Given the description of an element on the screen output the (x, y) to click on. 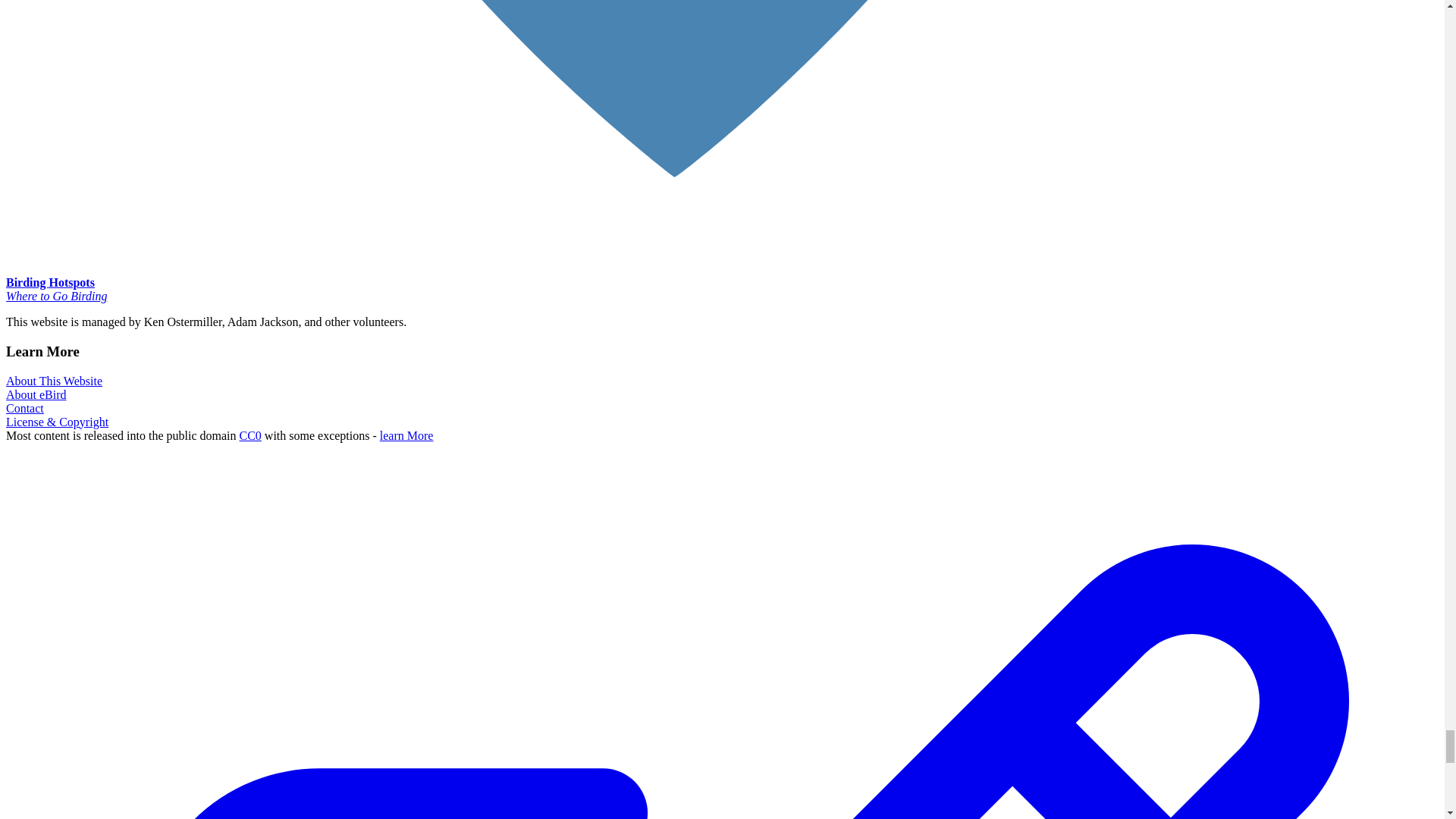
About This Website (53, 380)
learn More (406, 435)
About eBird (35, 394)
CC0 (251, 435)
Contact (24, 408)
